Given the description of an element on the screen output the (x, y) to click on. 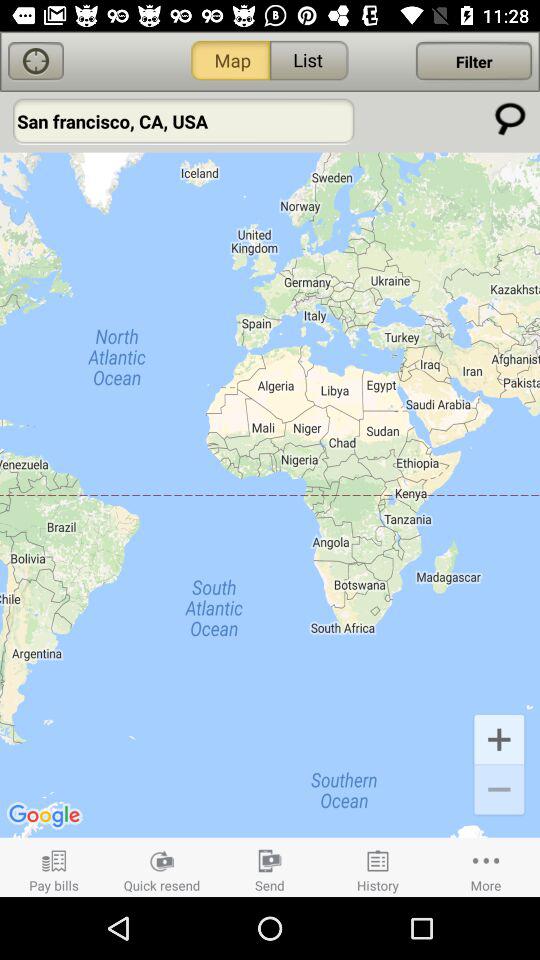
go back (35, 61)
